Given the description of an element on the screen output the (x, y) to click on. 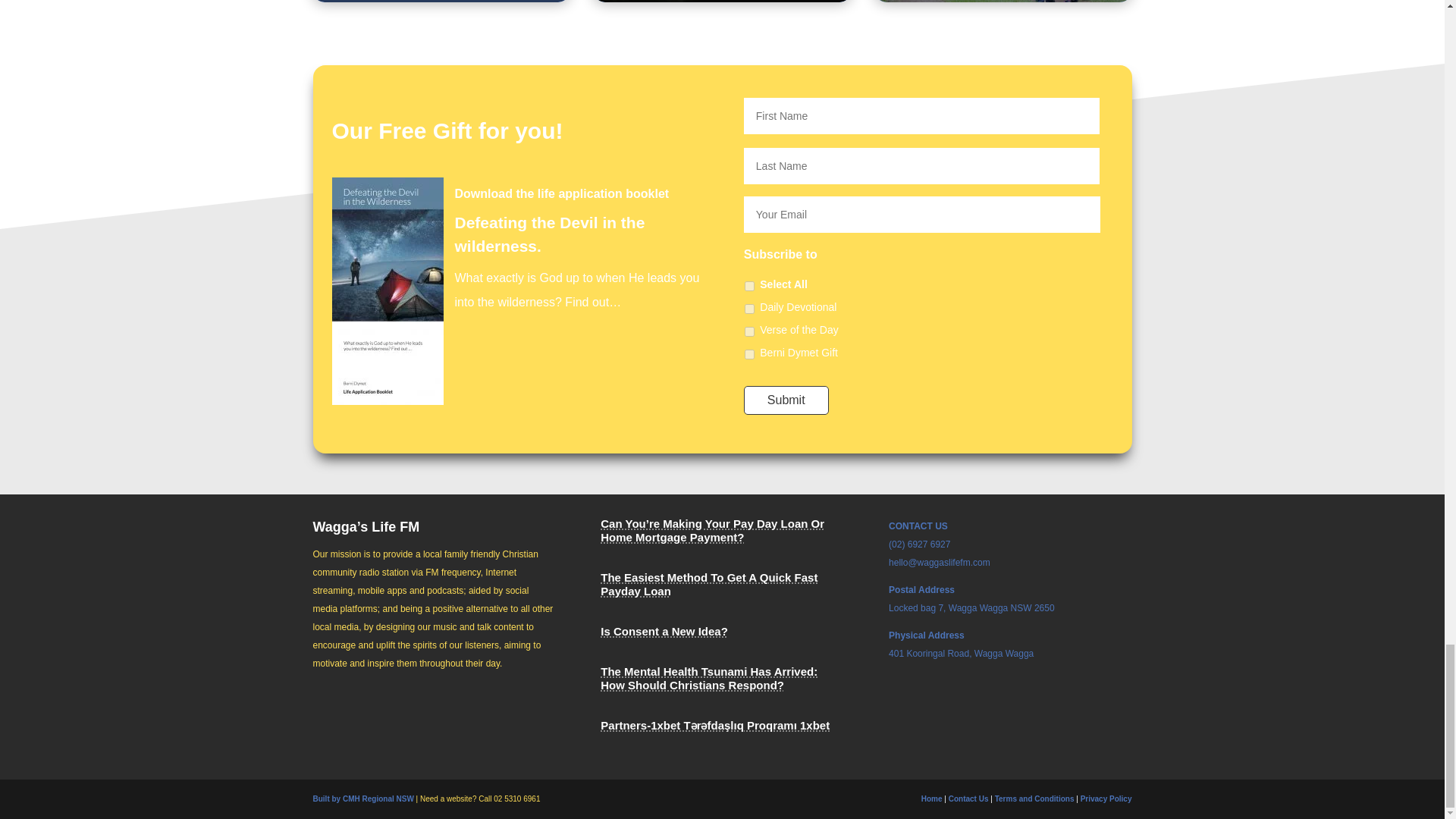
Submit (786, 400)
Daily Devotional (749, 308)
Verse of the Day (749, 331)
Berni Dymet Gift (749, 354)
on (749, 286)
